Given the description of an element on the screen output the (x, y) to click on. 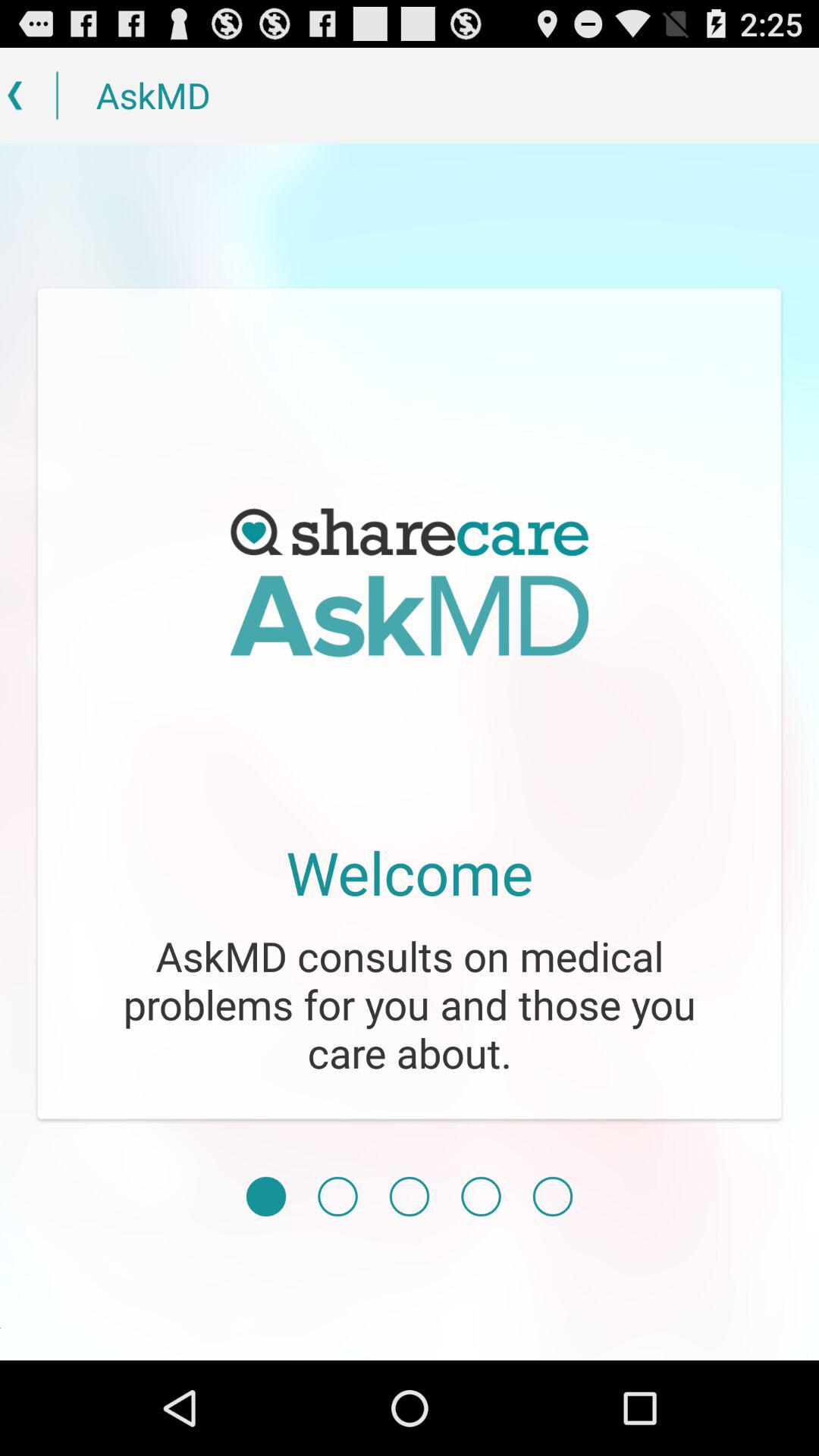
view page (266, 1196)
